Given the description of an element on the screen output the (x, y) to click on. 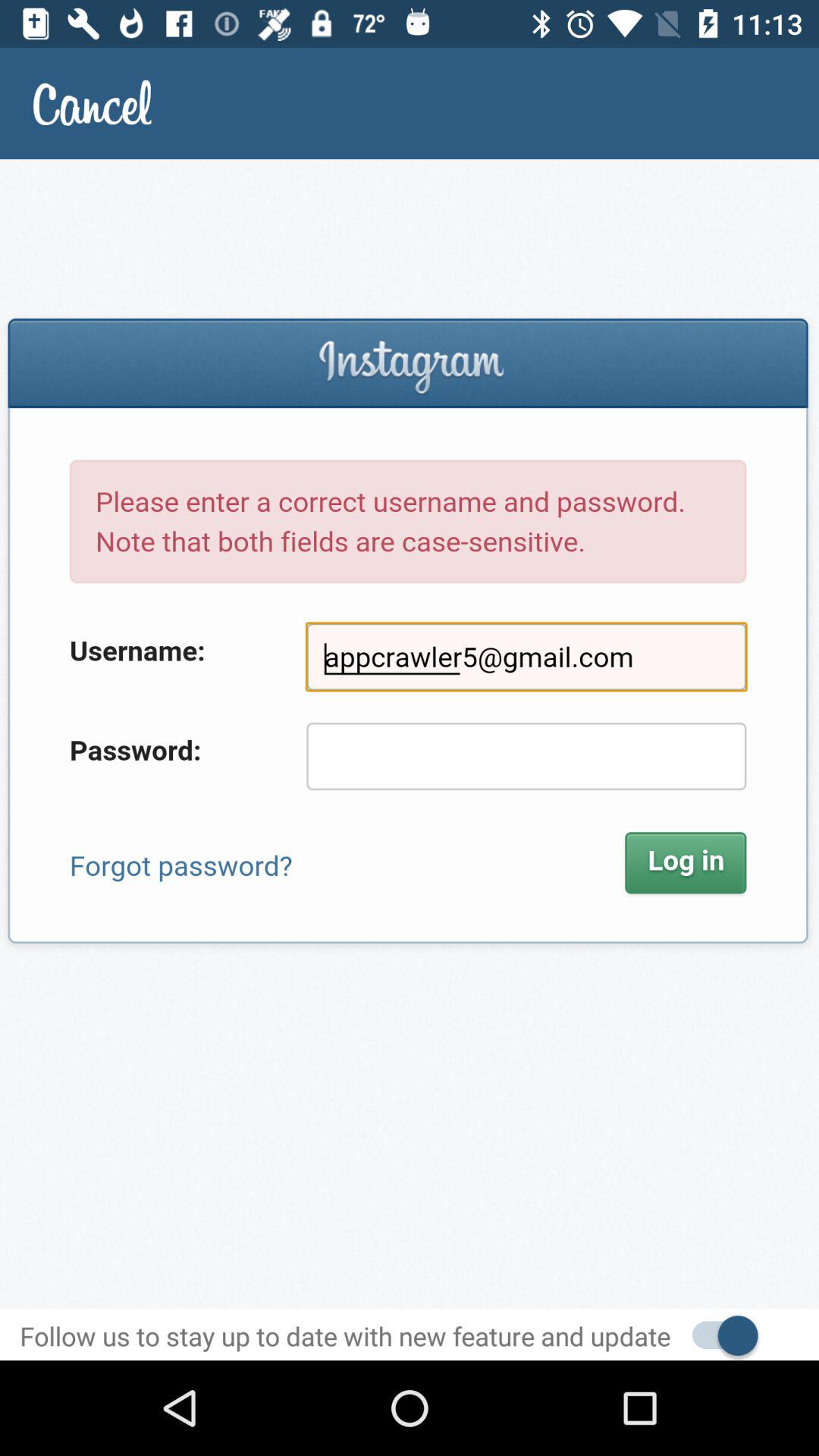
for update (717, 1334)
